Given the description of an element on the screen output the (x, y) to click on. 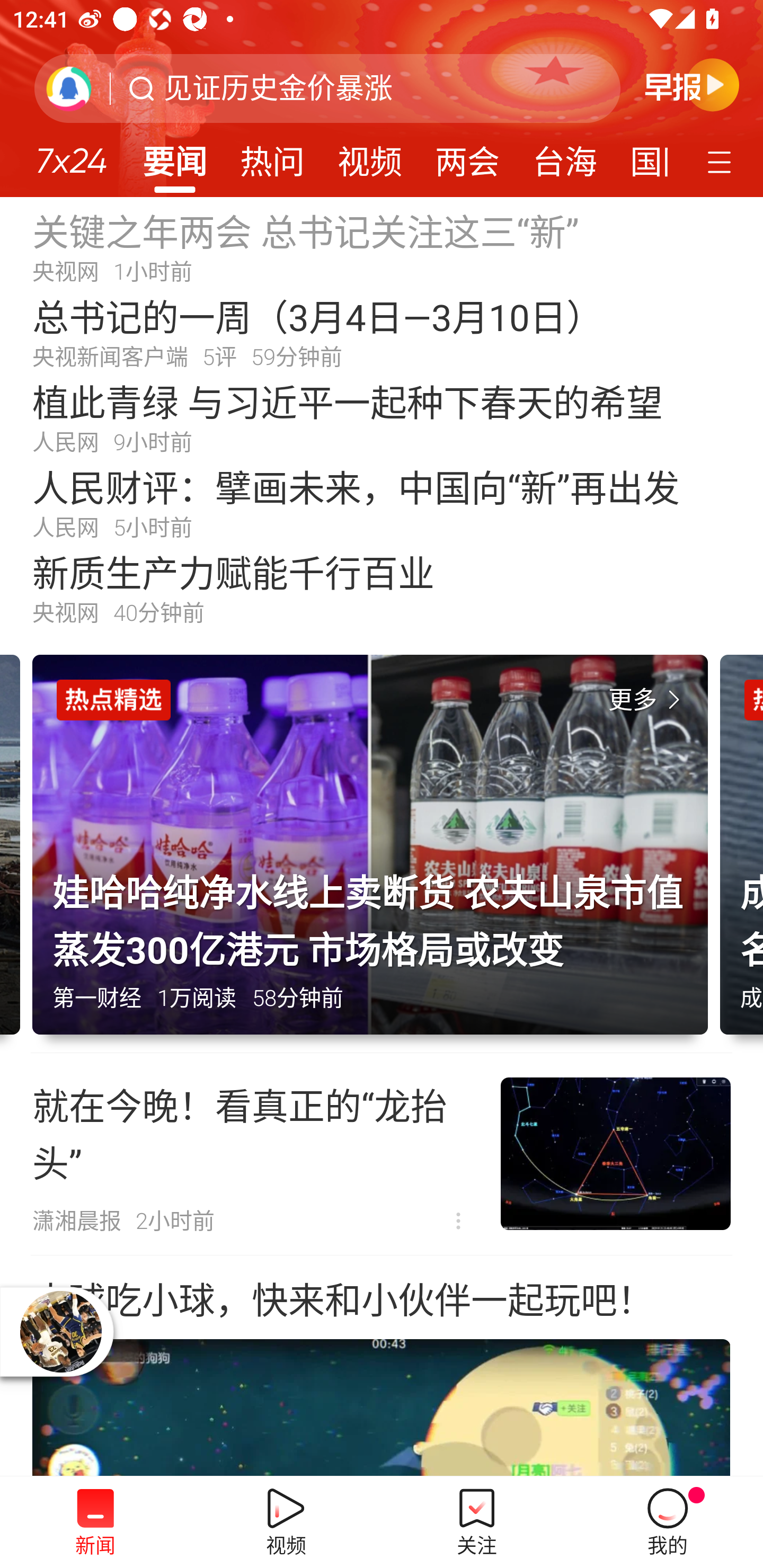
腾讯新闻 (381, 98)
早晚报 (691, 84)
刷新 (68, 88)
见证历史金价暴涨 (278, 88)
7x24 (70, 154)
要闻 (174, 155)
热问 (272, 155)
视频 (369, 155)
两会 (466, 155)
台海 (564, 155)
 定制频道 (721, 160)
关键之年两会 总书记关注这三“新” 央视网 1小时前 (381, 245)
总书记的一周（3月4日—3月10日） 央视新闻客户端 5评 59分钟前 (381, 331)
植此青绿 与习近平一起种下春天的希望 人民网 9小时前 (381, 416)
人民财评：擘画未来，中国向“新”再出发 人民网 5小时前 (381, 502)
新质生产力赋能千行百业 央视网 40分钟前 (381, 587)
更多  (648, 699)
就在今晚！看真正的“龙抬头” 潇湘晨报 2小时前  不感兴趣 (381, 1153)
 不感兴趣 (458, 1221)
大球吃小球，快来和小伙伴一起玩吧！ (381, 1366)
播放器 (60, 1331)
